Given the description of an element on the screen output the (x, y) to click on. 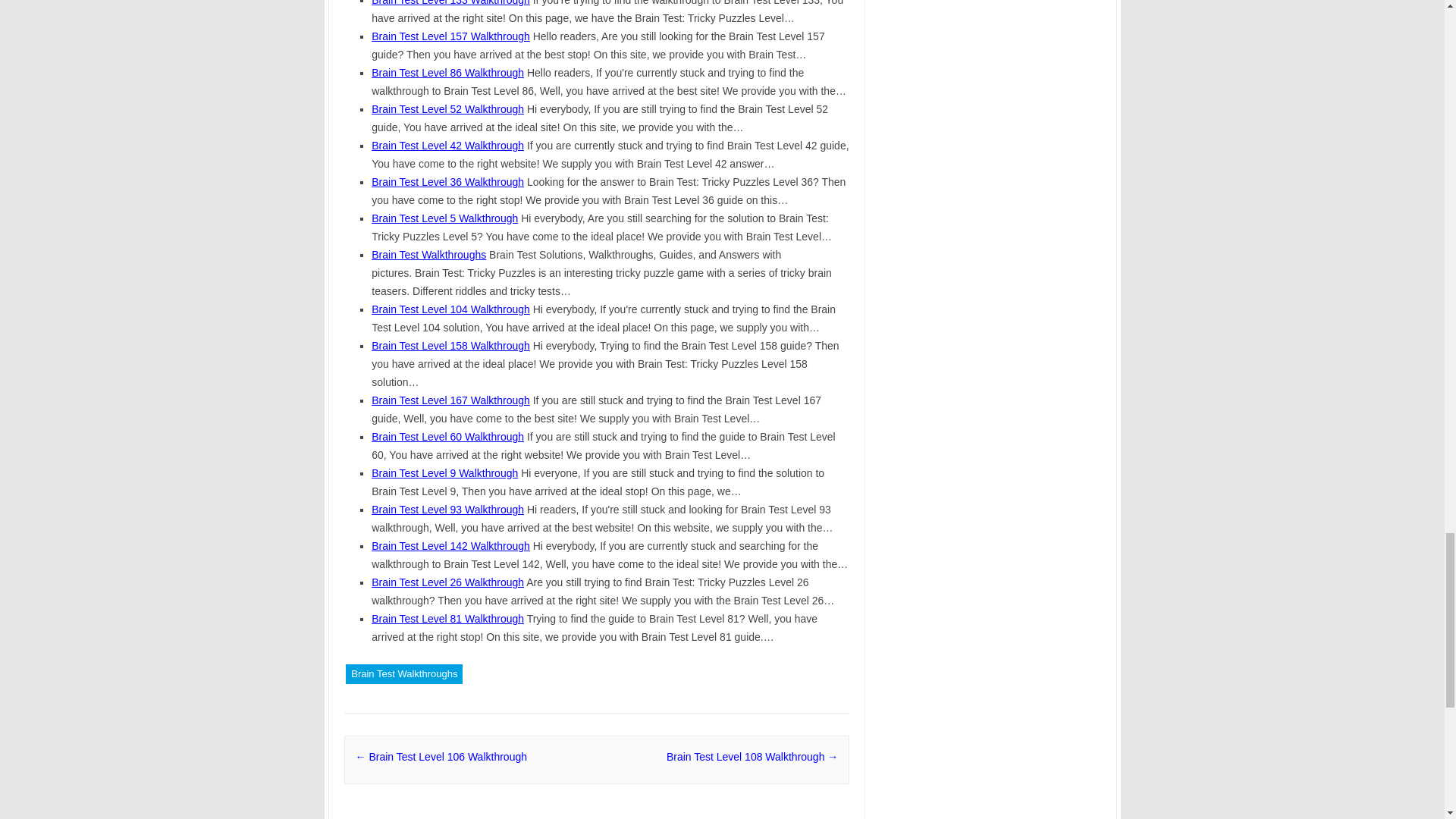
Brain Test Level 5 Walkthrough (444, 218)
Brain Test Level 157 Walkthrough (450, 36)
Brain Test Walkthroughs (428, 254)
Brain Test Level 86 Walkthrough (447, 72)
Brain Test Level 133 Walkthrough (450, 2)
Brain Test Level 167 Walkthrough (450, 399)
Brain Test Level 104 Walkthrough (450, 309)
Brain Test Level 60 Walkthrough (447, 436)
Brain Test Level 36 Walkthrough (447, 182)
Brain Test Level 158 Walkthrough (450, 345)
Brain Test Level 52 Walkthrough (447, 109)
Brain Test Level 42 Walkthrough (447, 145)
Brain Test Level 9 Walkthrough (444, 472)
